Given the description of an element on the screen output the (x, y) to click on. 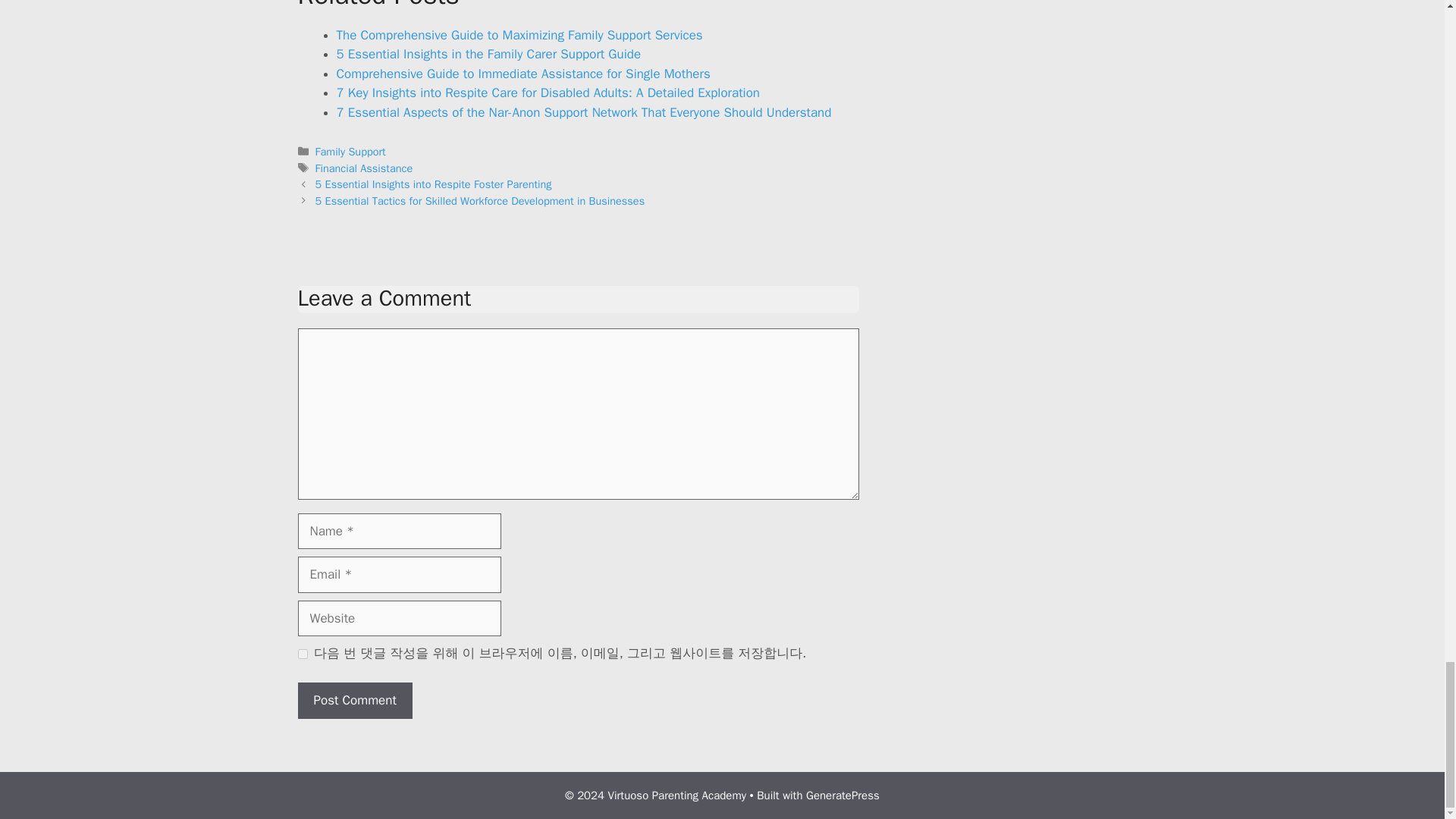
5 Essential Insights into Respite Foster Parenting (433, 183)
Financial Assistance (364, 168)
Post Comment (354, 700)
Post Comment (354, 700)
Family Support (350, 151)
yes (302, 654)
5 Essential Insights in the Family Carer Support Guide (489, 53)
